Given the description of an element on the screen output the (x, y) to click on. 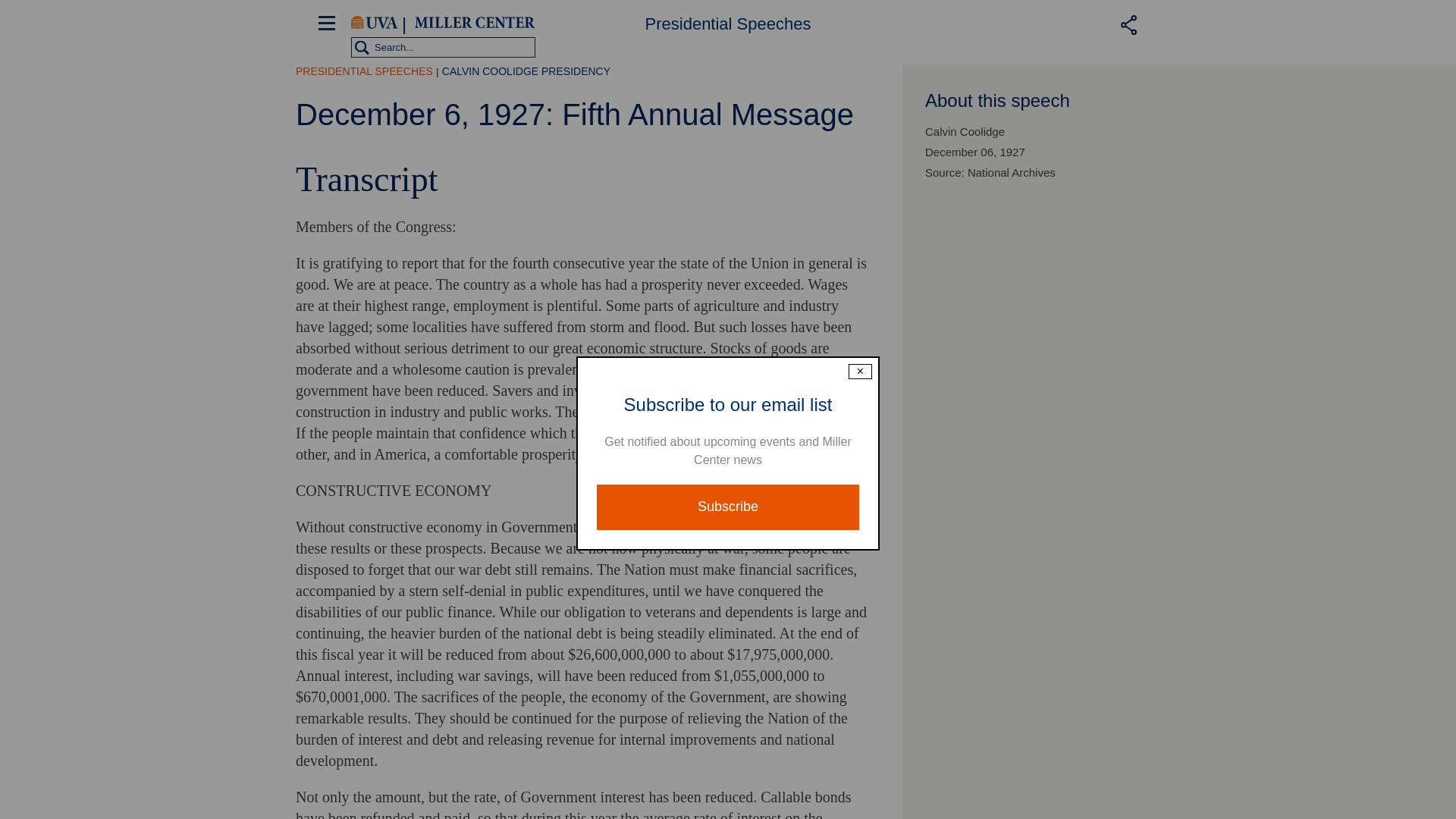
Home (474, 22)
University of Virginia (373, 22)
